Given the description of an element on the screen output the (x, y) to click on. 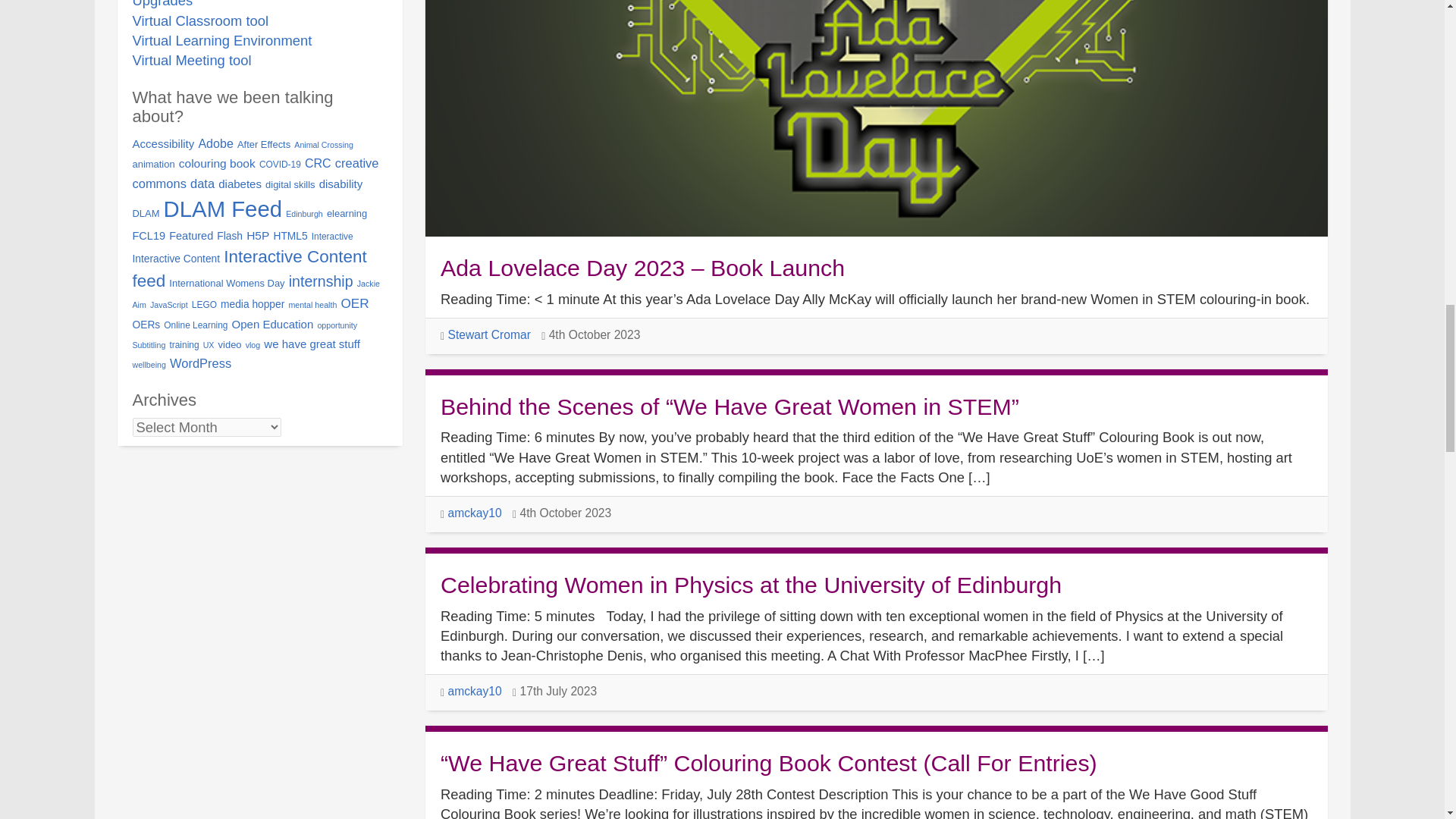
Virtual Meeting tool (191, 59)
Upgrades (162, 4)
Virtual Classroom tool (199, 20)
Posts by amckay10 (473, 512)
Virtual Learning Environment (221, 40)
Posts by Stewart Cromar (487, 334)
